Given the description of an element on the screen output the (x, y) to click on. 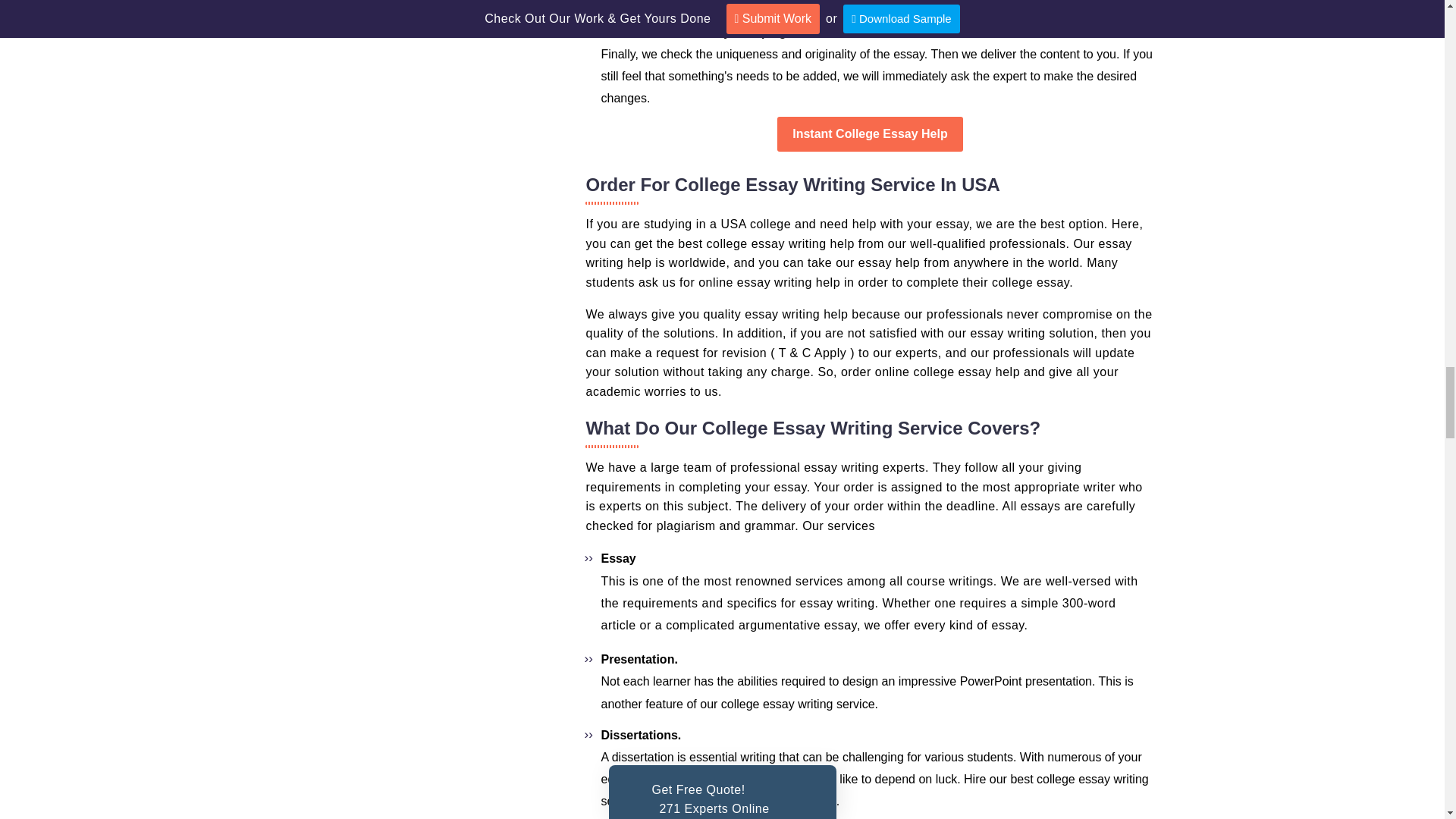
Submit Assignment Here (869, 134)
